Given the description of an element on the screen output the (x, y) to click on. 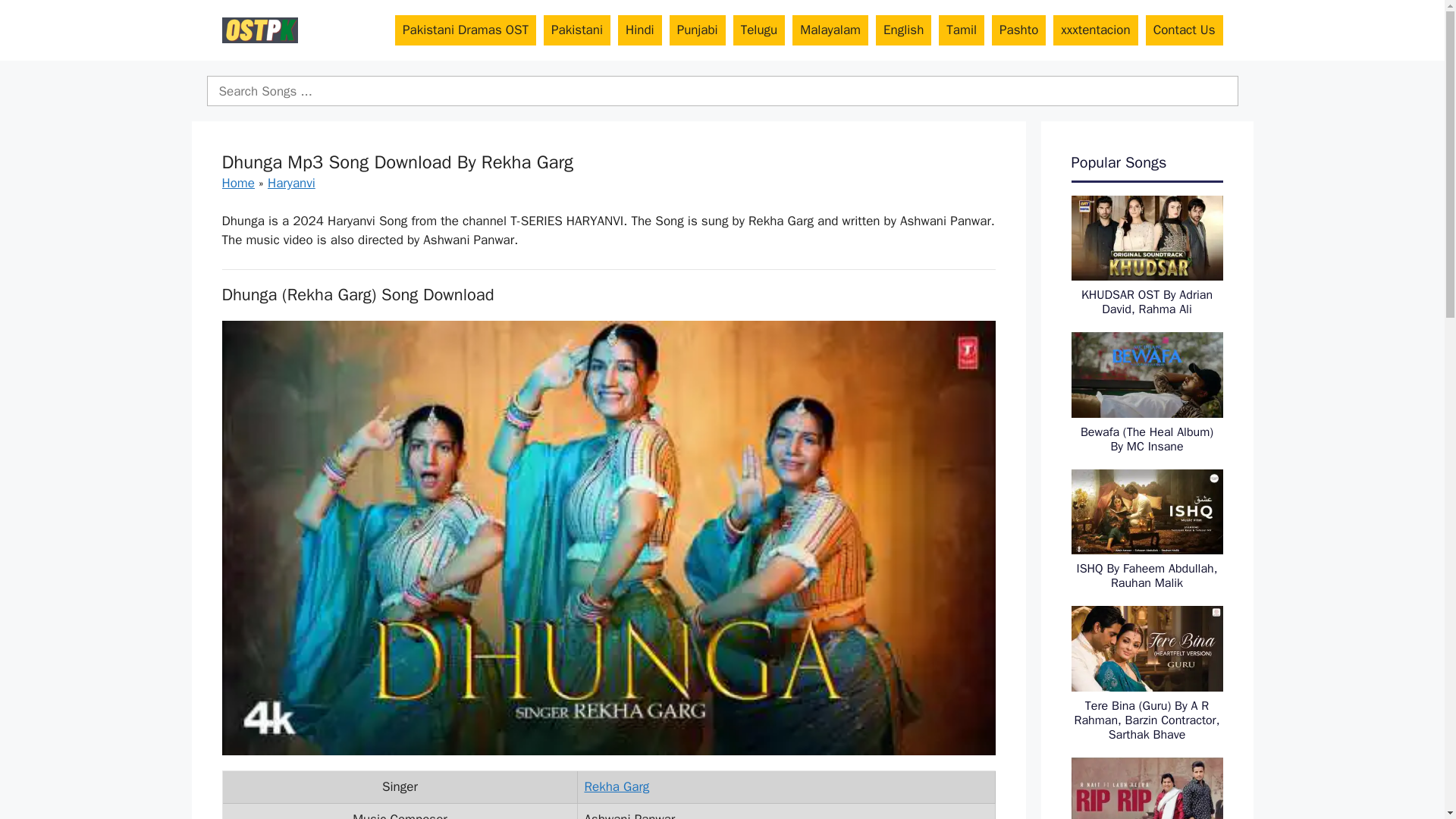
Rekha Garg (616, 786)
Pakistani Dramas OST (464, 30)
Haryanvi (291, 182)
Punjabi (697, 30)
Pashto (1018, 30)
Tamil (961, 30)
xxxtentacion (1094, 30)
Search (721, 91)
Hindi (639, 30)
English (903, 30)
Contact Us (1184, 30)
Telugu (759, 30)
Home (237, 182)
Malayalam (829, 30)
